Given the description of an element on the screen output the (x, y) to click on. 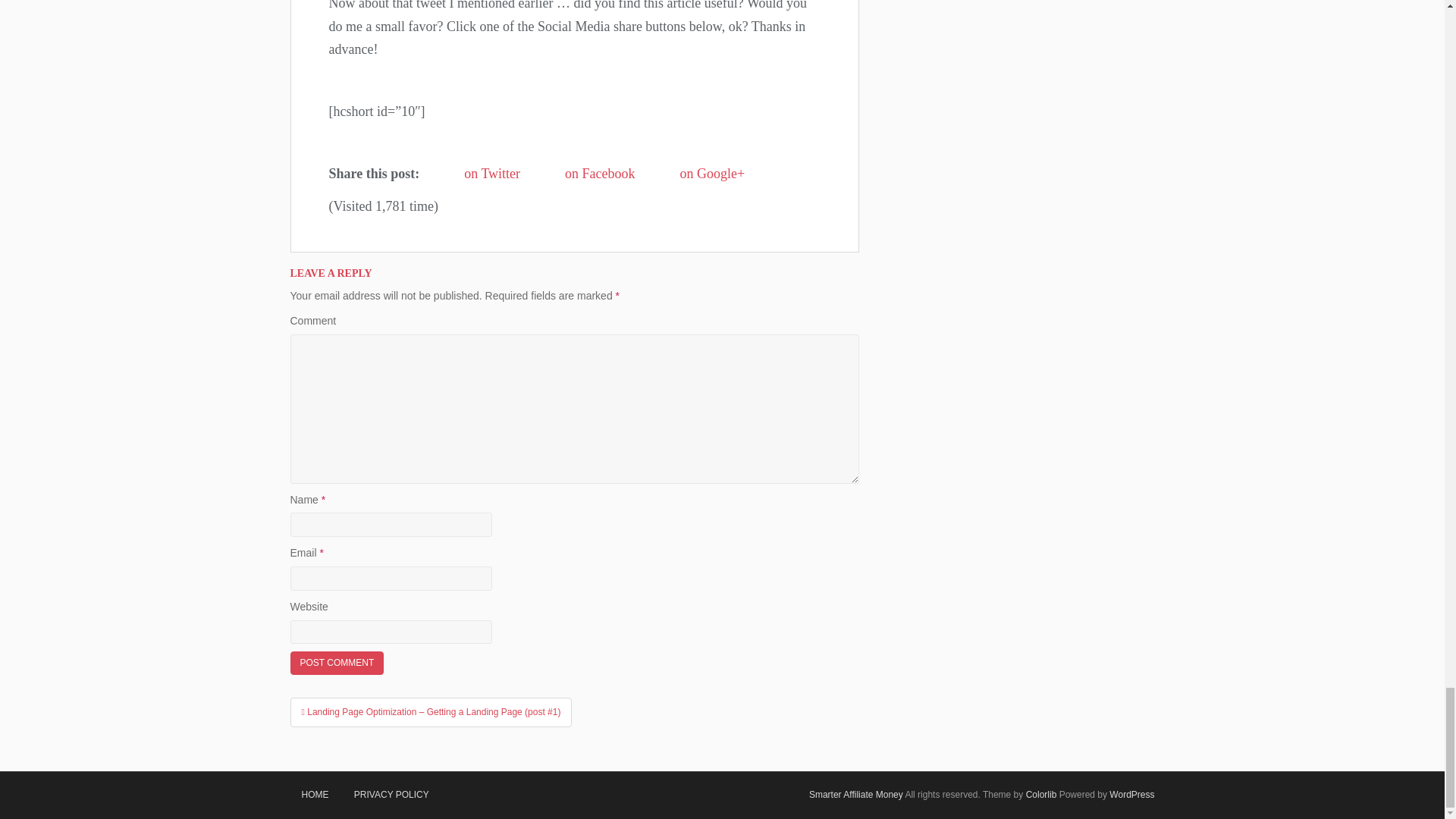
on Twitter (475, 174)
on Facebook (583, 174)
Smarter Affiliate Money - Work Smarter, Earn More (855, 794)
Post Comment (336, 662)
Smarter Affiliate Money (855, 794)
PRIVACY POLICY (391, 794)
WordPress (1131, 794)
Post Comment (336, 662)
Colorlib (1041, 794)
HOME (314, 794)
